Given the description of an element on the screen output the (x, y) to click on. 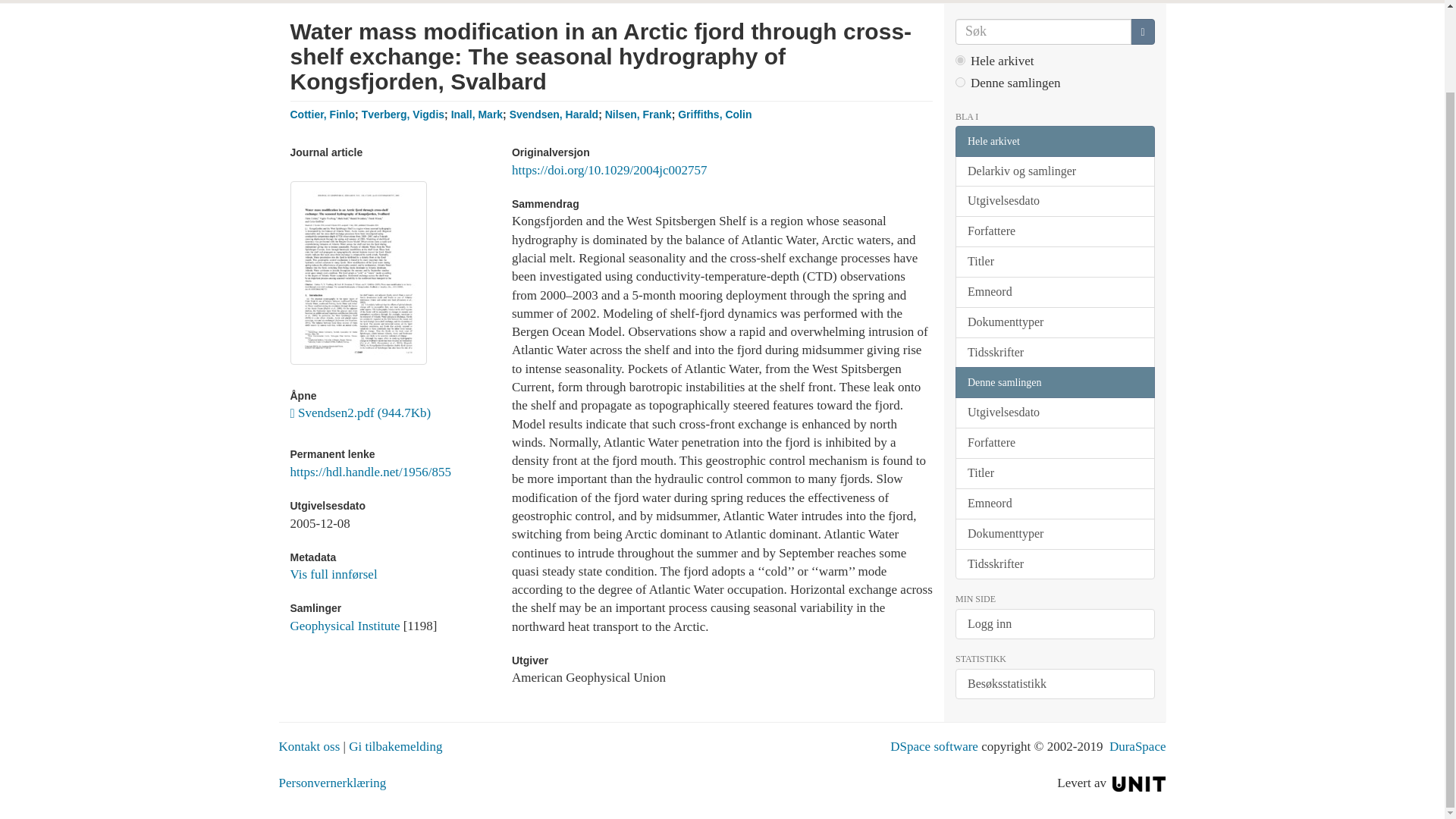
Nilsen, Frank (638, 114)
Tverberg, Vigdis (402, 114)
Griffiths, Colin (714, 114)
Unit (1139, 782)
Geophysical Institute (343, 626)
Inall, Mark (476, 114)
Cottier, Finlo (322, 114)
Svendsen, Harald (553, 114)
